Given the description of an element on the screen output the (x, y) to click on. 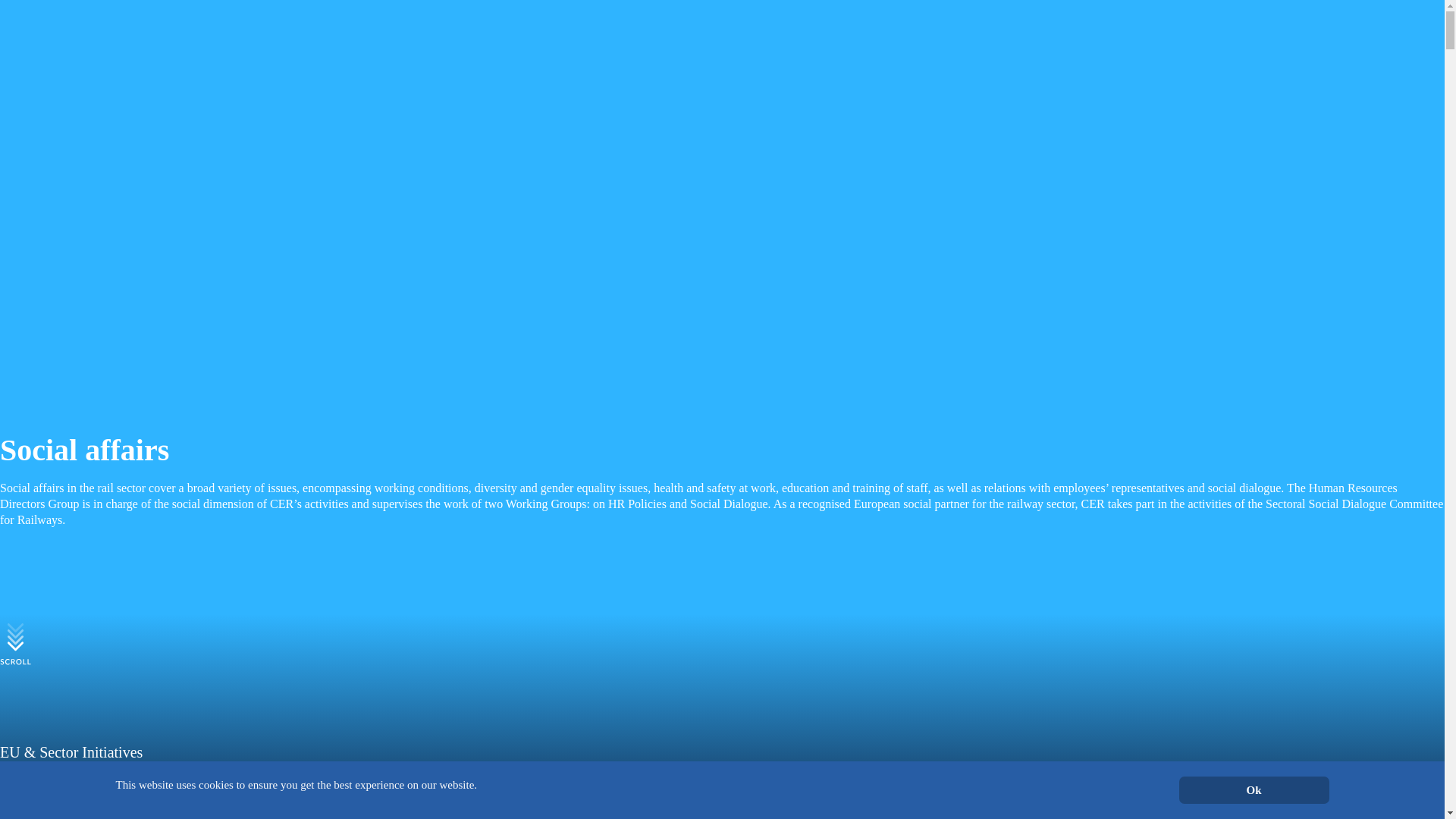
EU & Sector Initiatives Element type: text (1227, 689)
Freight Element type: text (1227, 415)
Infrastructure Element type: text (1227, 460)
Sustainability Element type: text (1227, 506)
Events Element type: text (54, 292)
About Us Element type: text (61, 143)
Safety & Interoperability Element type: text (1227, 597)
Economic footprint Element type: text (1227, 552)
Publications Element type: text (67, 217)
Newsroom Element type: text (64, 254)
Ok Element type: text (1253, 790)
Topics Element type: text (53, 180)
MEMBERS AREA Element type: text (722, 160)
Passenger Element type: text (1227, 368)
Social affairs Element type: text (1227, 644)
